Given the description of an element on the screen output the (x, y) to click on. 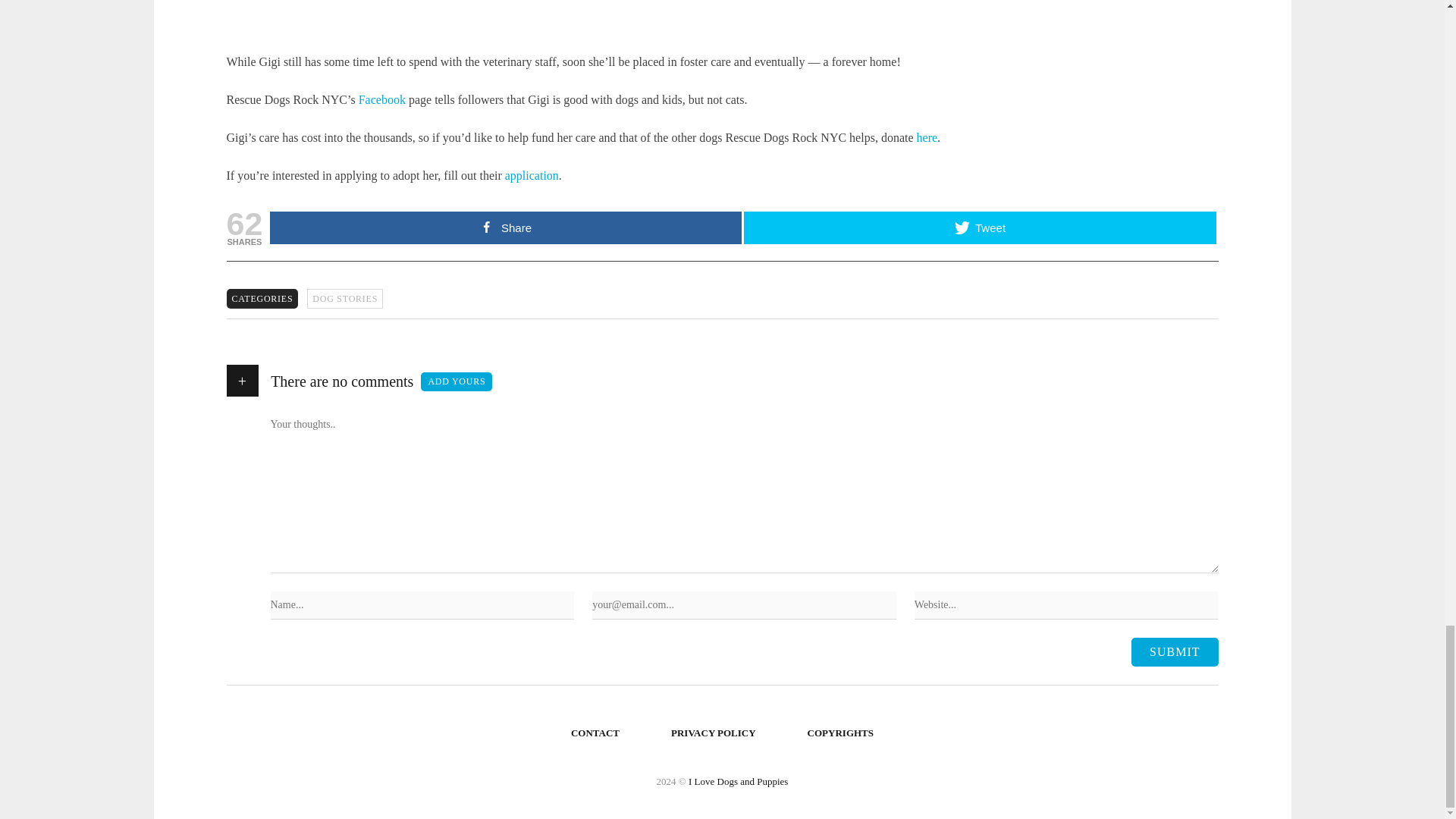
View all posts in Dog Stories (344, 298)
Submit (1174, 652)
Facebook (382, 99)
application (532, 174)
CONTACT (595, 733)
PRIVACY POLICY (714, 733)
here (927, 137)
Submit (1174, 652)
Share (505, 227)
DOG STORIES (344, 298)
